Given the description of an element on the screen output the (x, y) to click on. 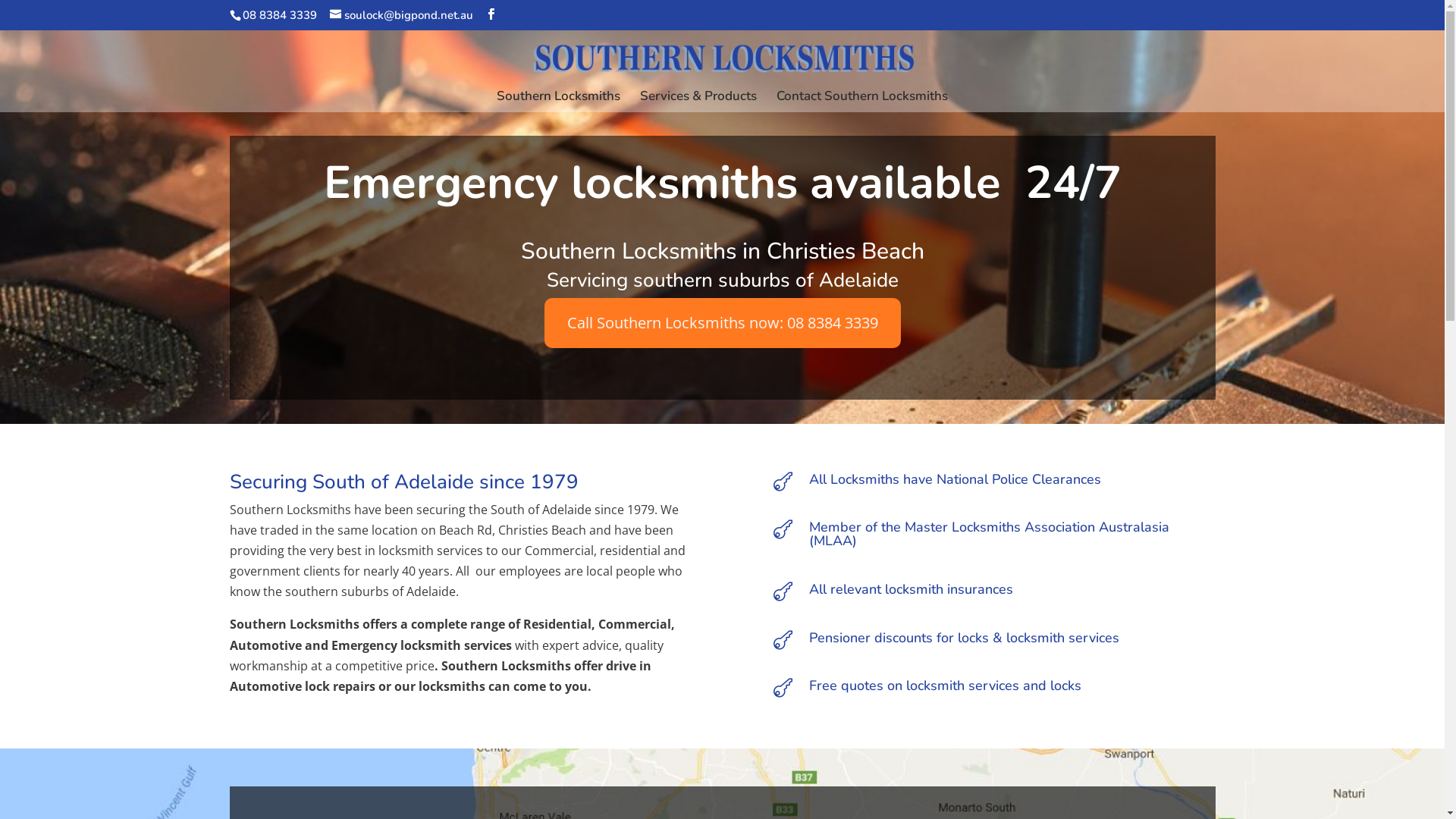
Southern Locksmiths Element type: text (558, 101)
soulock@bigpond.net.au Element type: text (400, 14)
locksmith services to our Commercial, residential Element type: text (518, 550)
Services & Products Element type: text (698, 101)
Call Southern Locksmiths now: 08 8384 3339 Element type: text (722, 323)
Contact Southern Locksmiths Element type: text (861, 101)
